Given the description of an element on the screen output the (x, y) to click on. 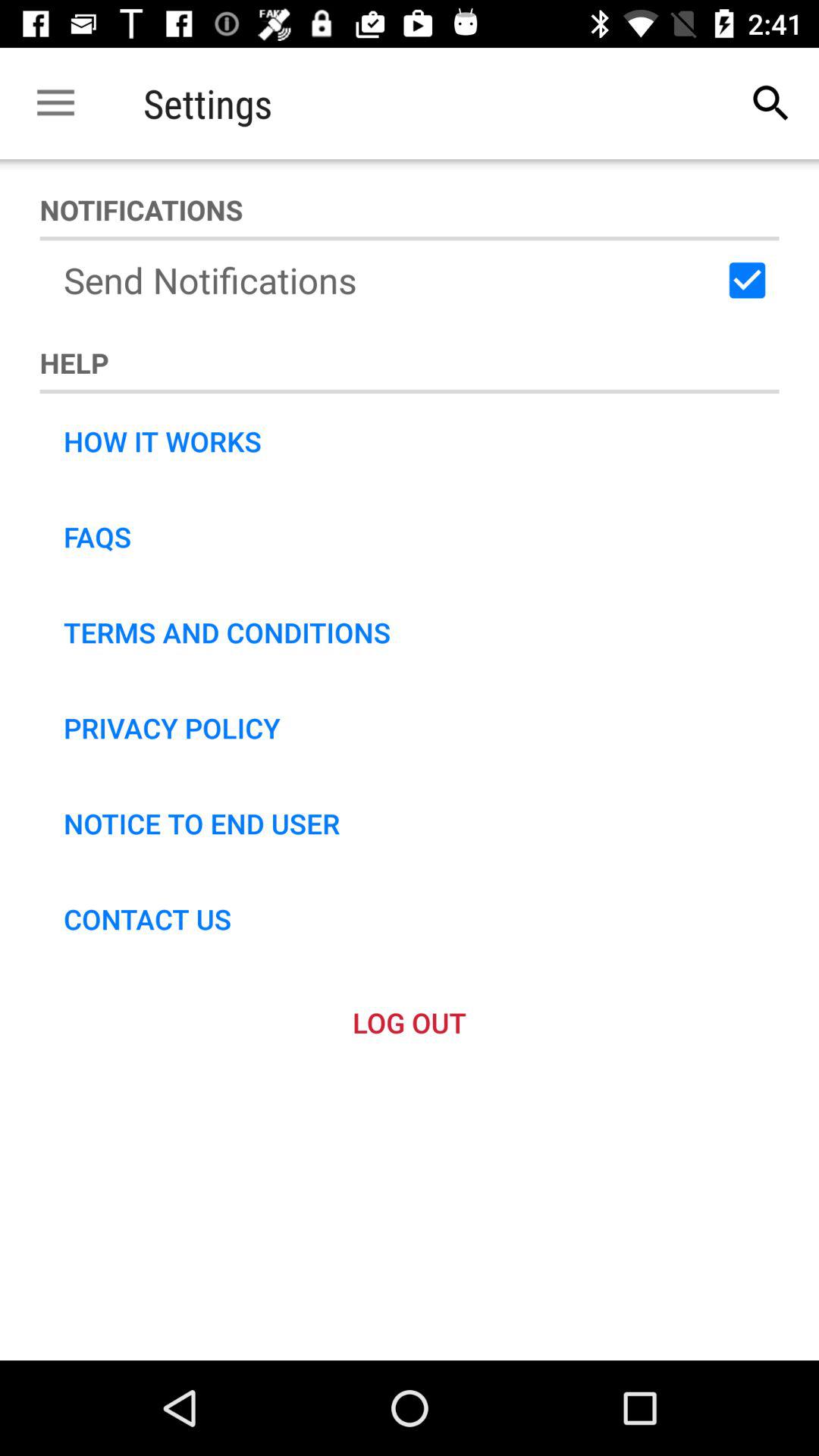
jump until the faqs item (97, 536)
